Given the description of an element on the screen output the (x, y) to click on. 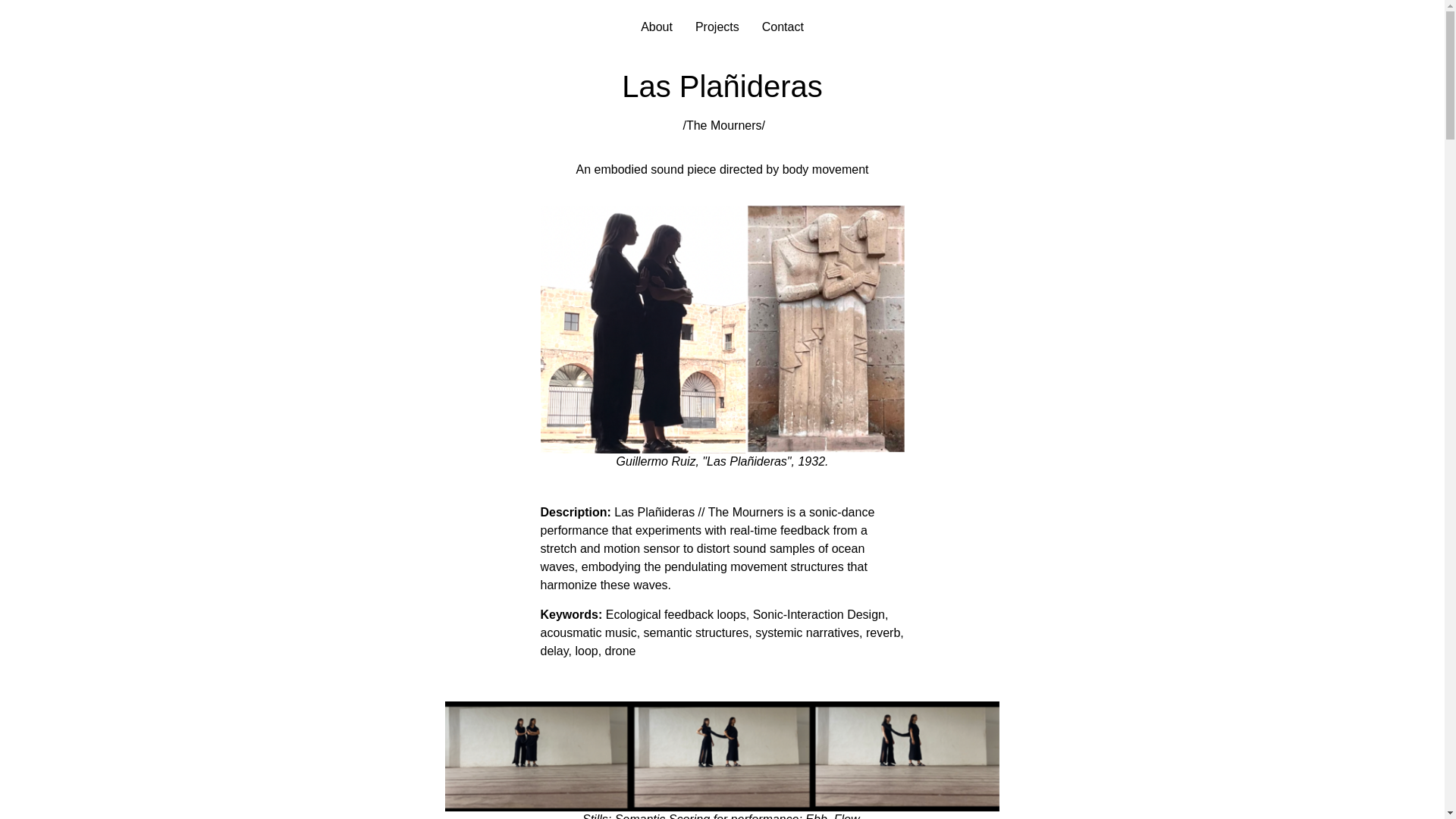
Projects (717, 27)
About (656, 27)
Contact (783, 27)
